Given the description of an element on the screen output the (x, y) to click on. 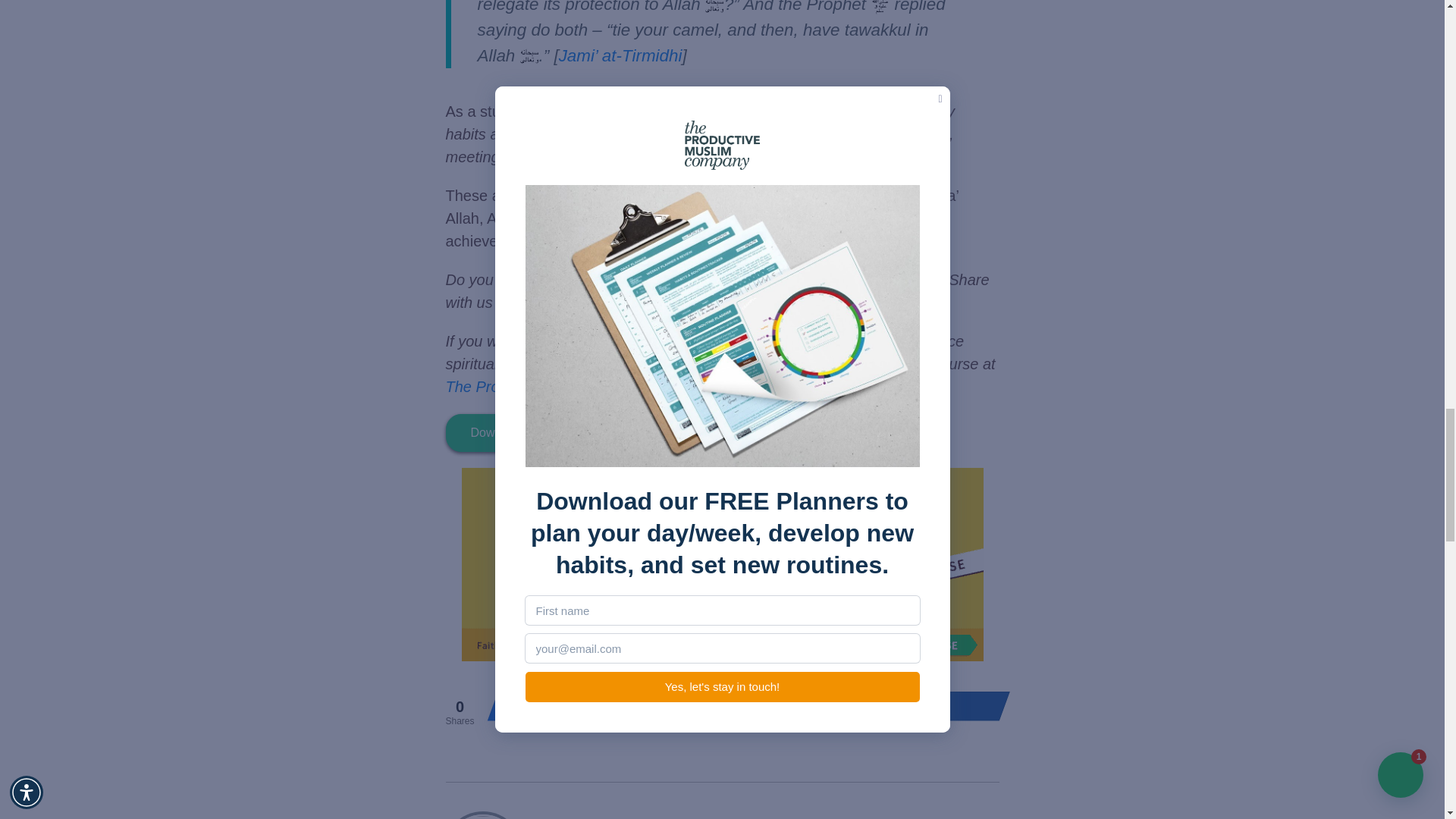
The Barakah Effect (858, 363)
LinkedIn (913, 705)
The ProductiveMuslim Academy (553, 386)
Twitter (572, 705)
